Given the description of an element on the screen output the (x, y) to click on. 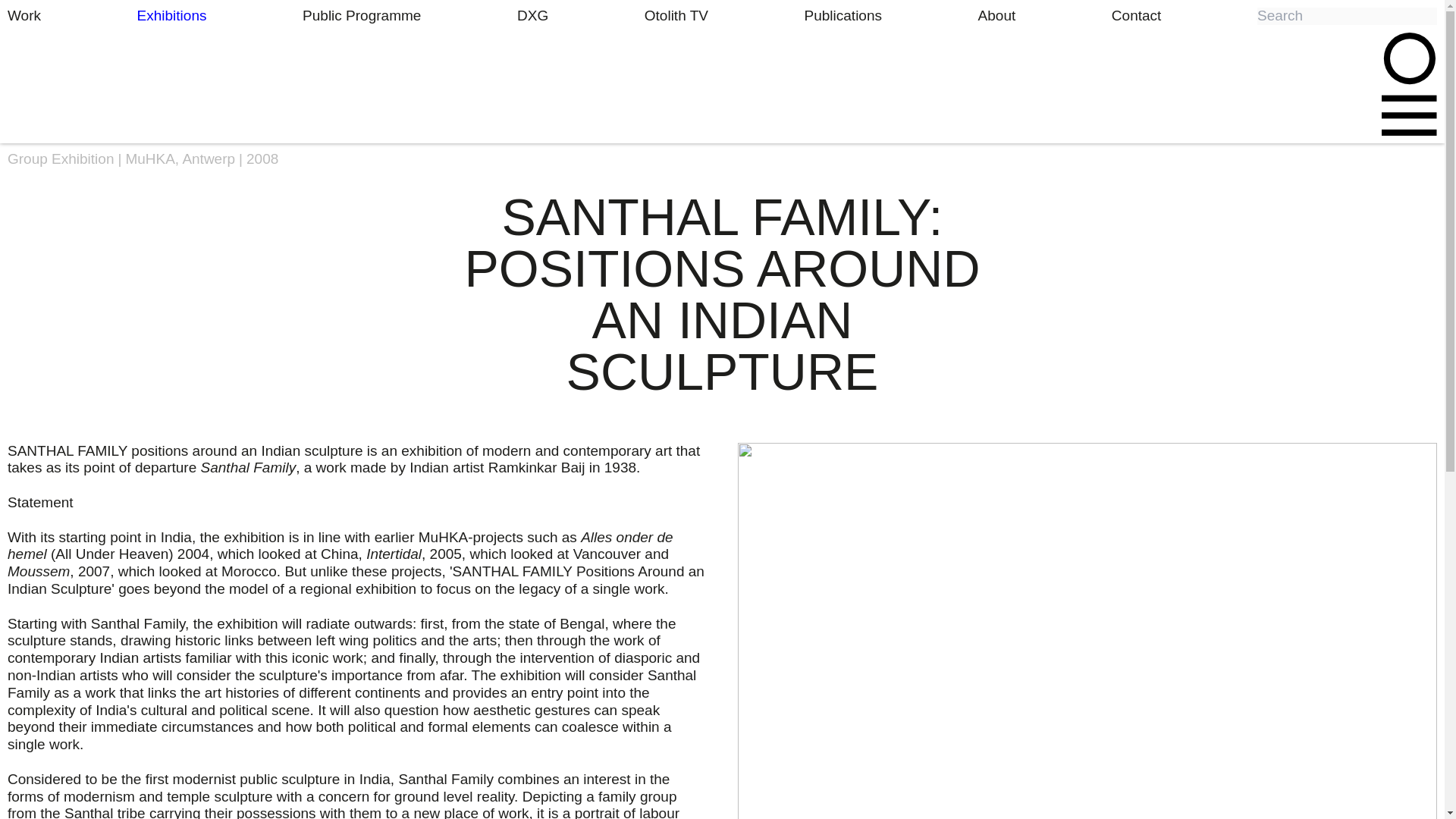
About (997, 15)
Publications (843, 15)
Otolith TV (676, 15)
Public Programme (361, 15)
Contact (1136, 15)
Exhibitions (171, 15)
DXG (532, 15)
Work (23, 15)
